Given the description of an element on the screen output the (x, y) to click on. 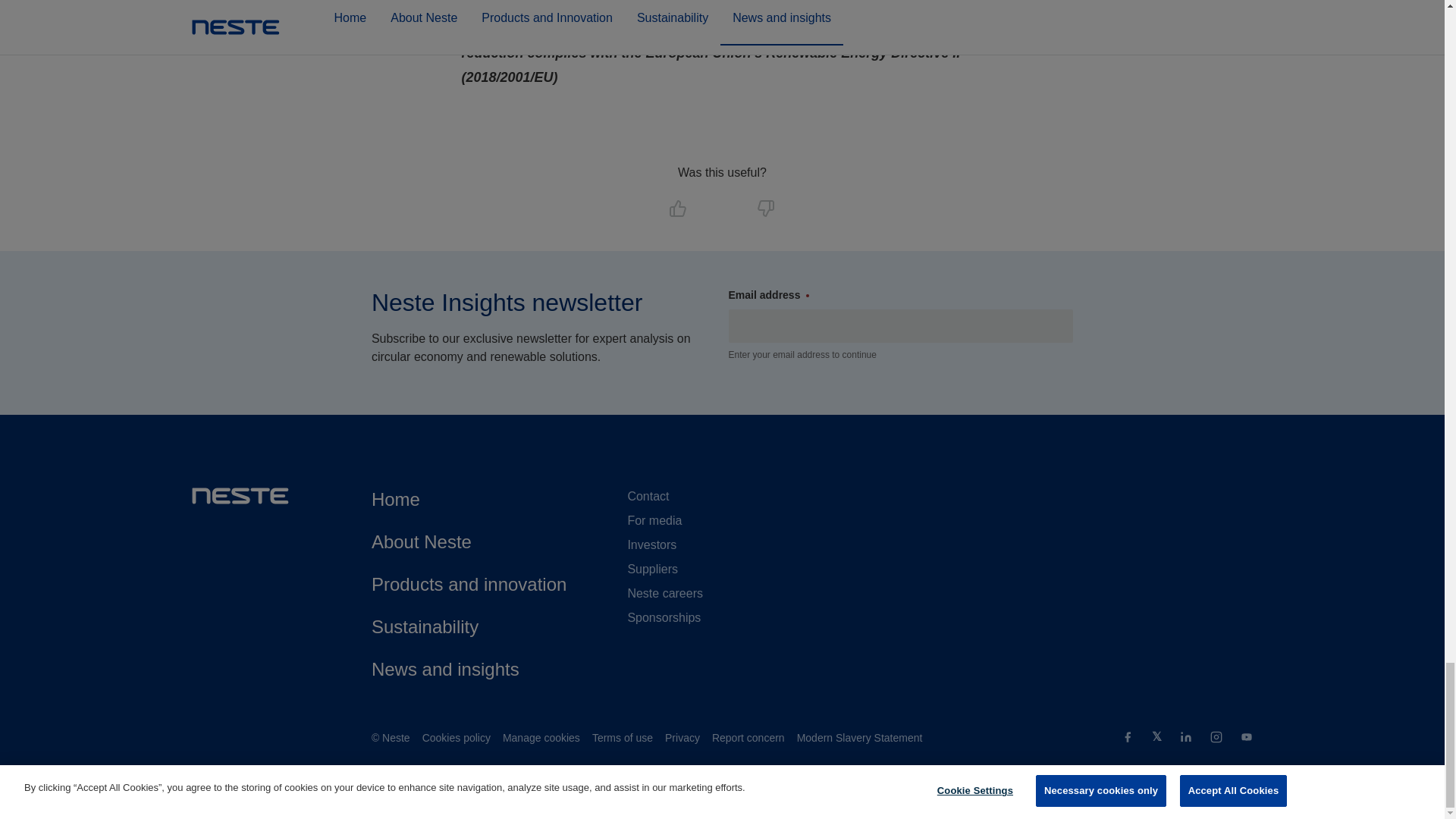
News and insights (445, 669)
Instagram (1216, 738)
Cookies policy (456, 737)
YouTube (1246, 738)
Facebook (1127, 738)
LinkedIn (1185, 738)
Suppliers (652, 568)
About Neste (421, 541)
Sustainability (425, 626)
Sponsorships (663, 617)
For media (654, 520)
Neste careers (665, 593)
Investors (652, 544)
Home (395, 498)
